Given the description of an element on the screen output the (x, y) to click on. 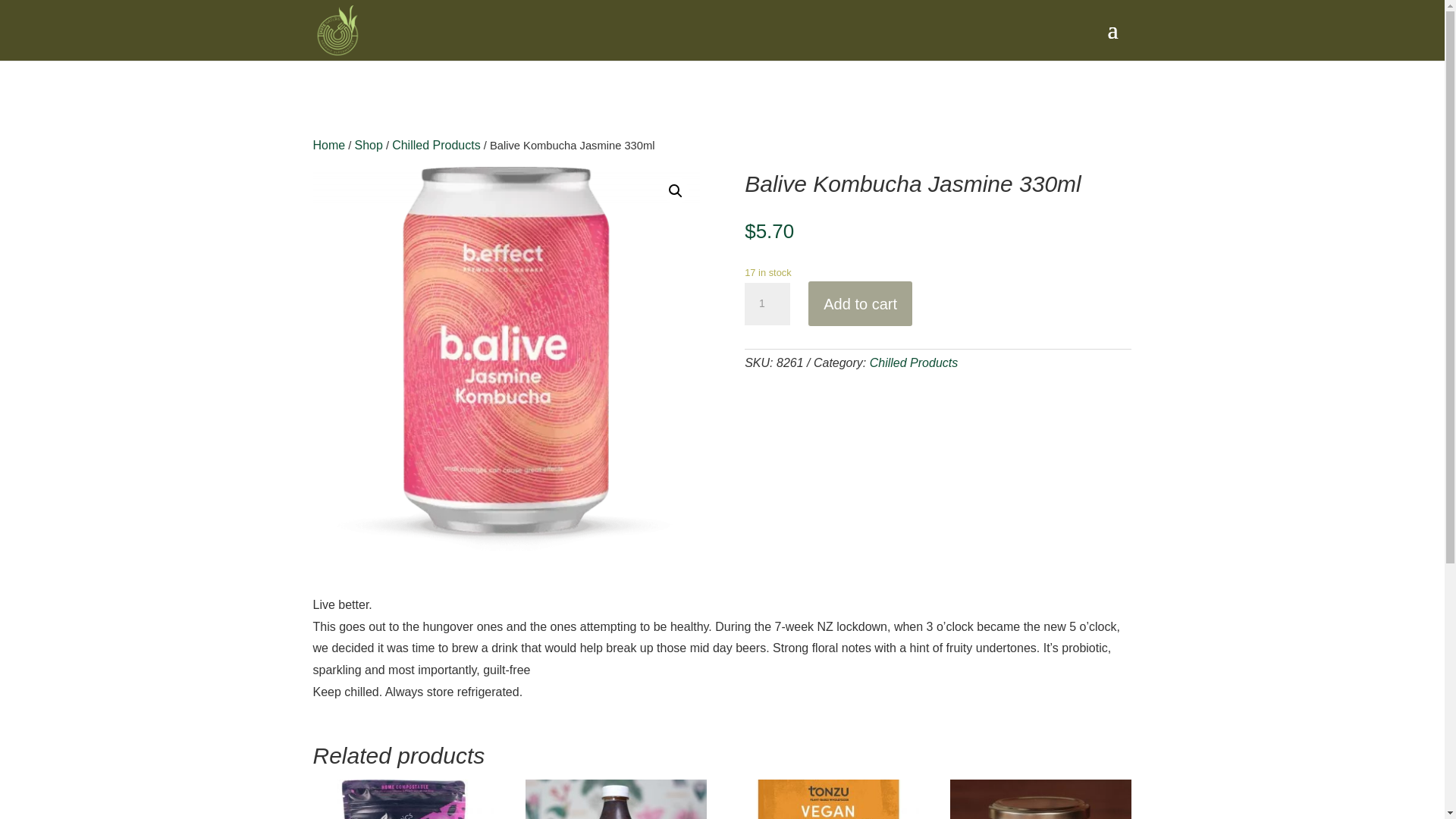
Add to cart (860, 303)
Shop (367, 144)
Chilled Products (435, 144)
Home (329, 144)
1 (767, 303)
Chilled Products (913, 362)
